Given the description of an element on the screen output the (x, y) to click on. 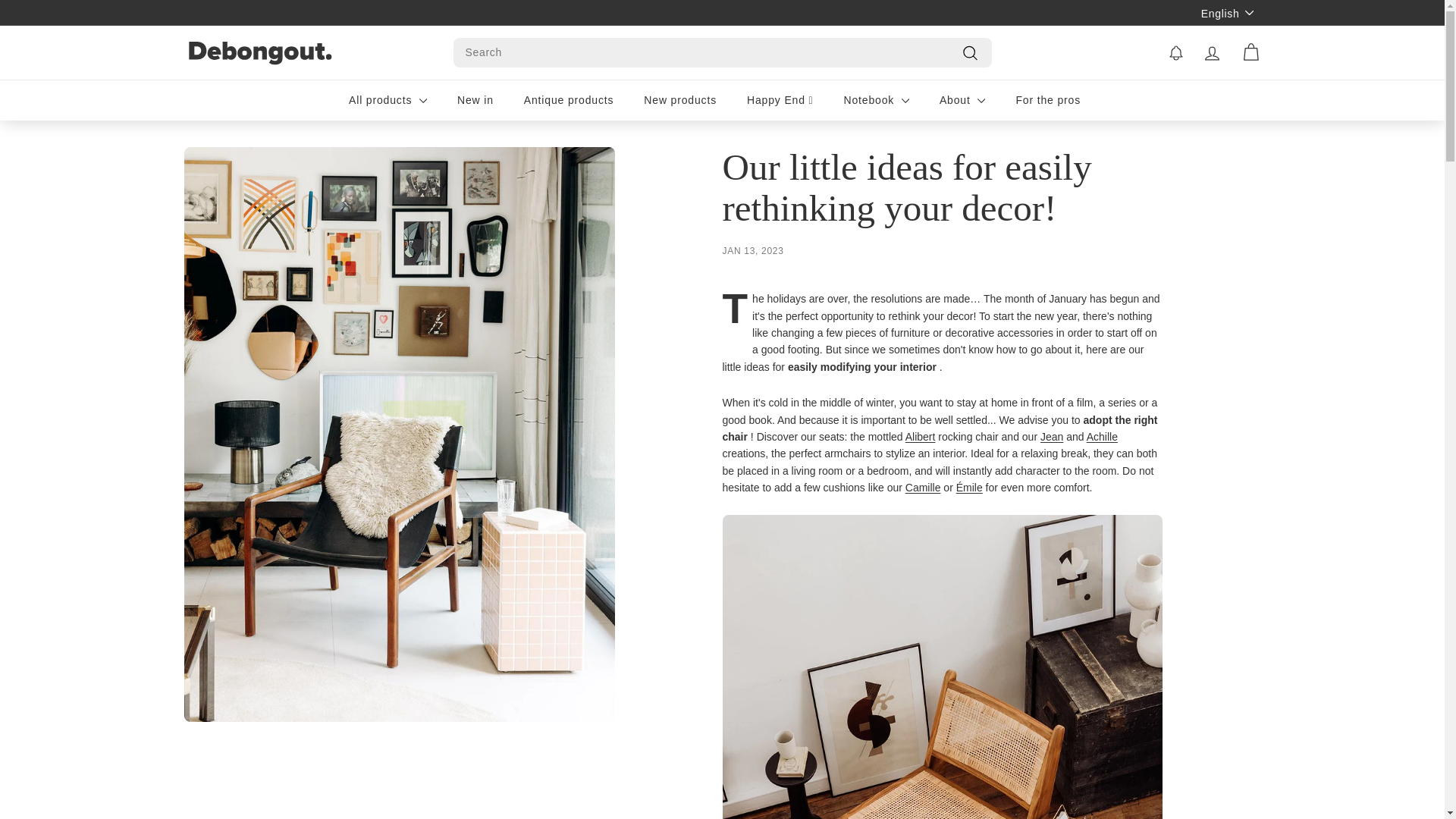
English (1230, 12)
alibert (920, 436)
Jeans (1051, 436)
Achille (1102, 436)
emile (969, 487)
Camilla (922, 487)
